Given the description of an element on the screen output the (x, y) to click on. 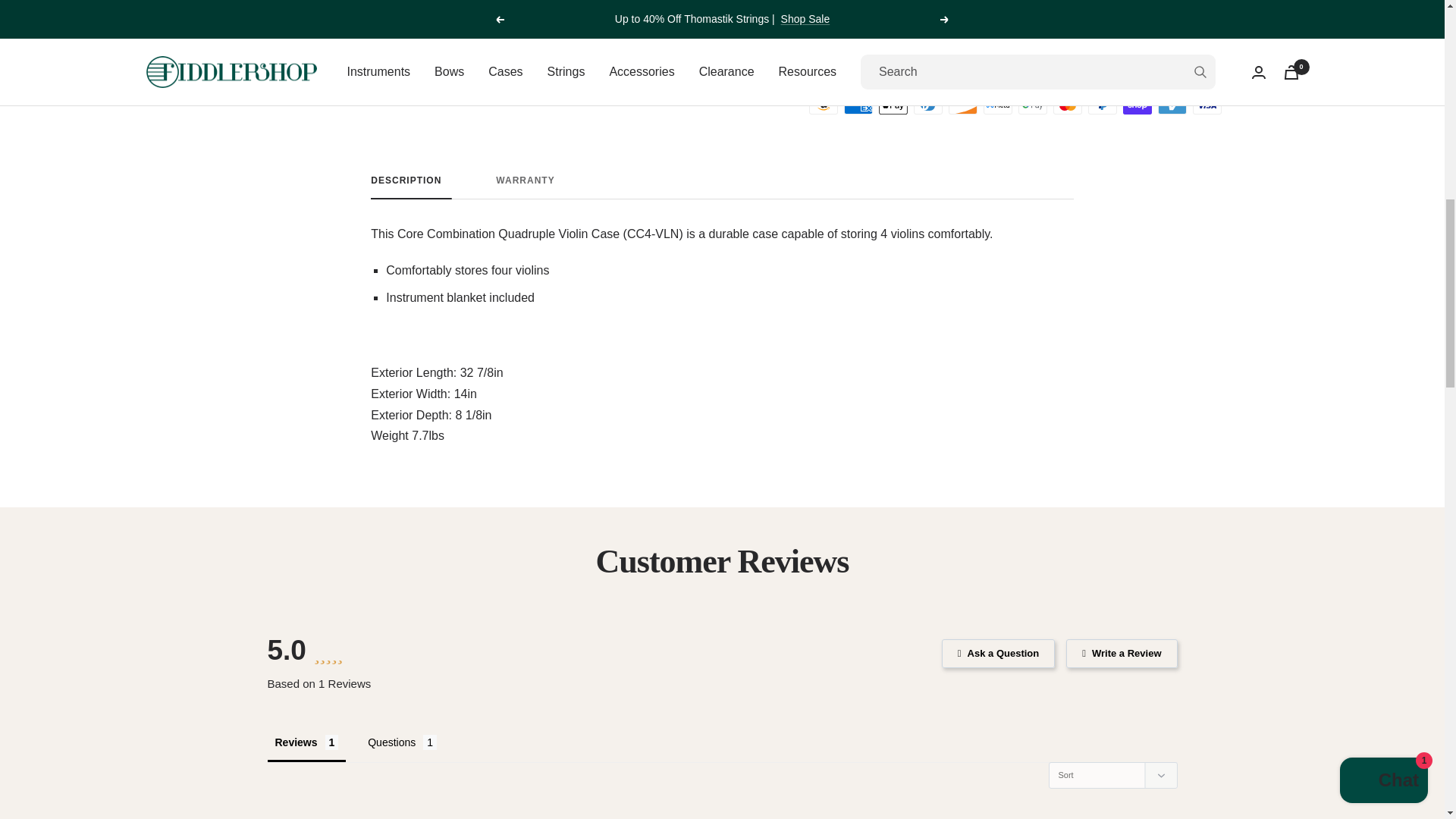
DESCRIPTION (406, 187)
More payment options (1015, 77)
WARRANTY (722, 187)
ADD TO CART (722, 187)
